Given the description of an element on the screen output the (x, y) to click on. 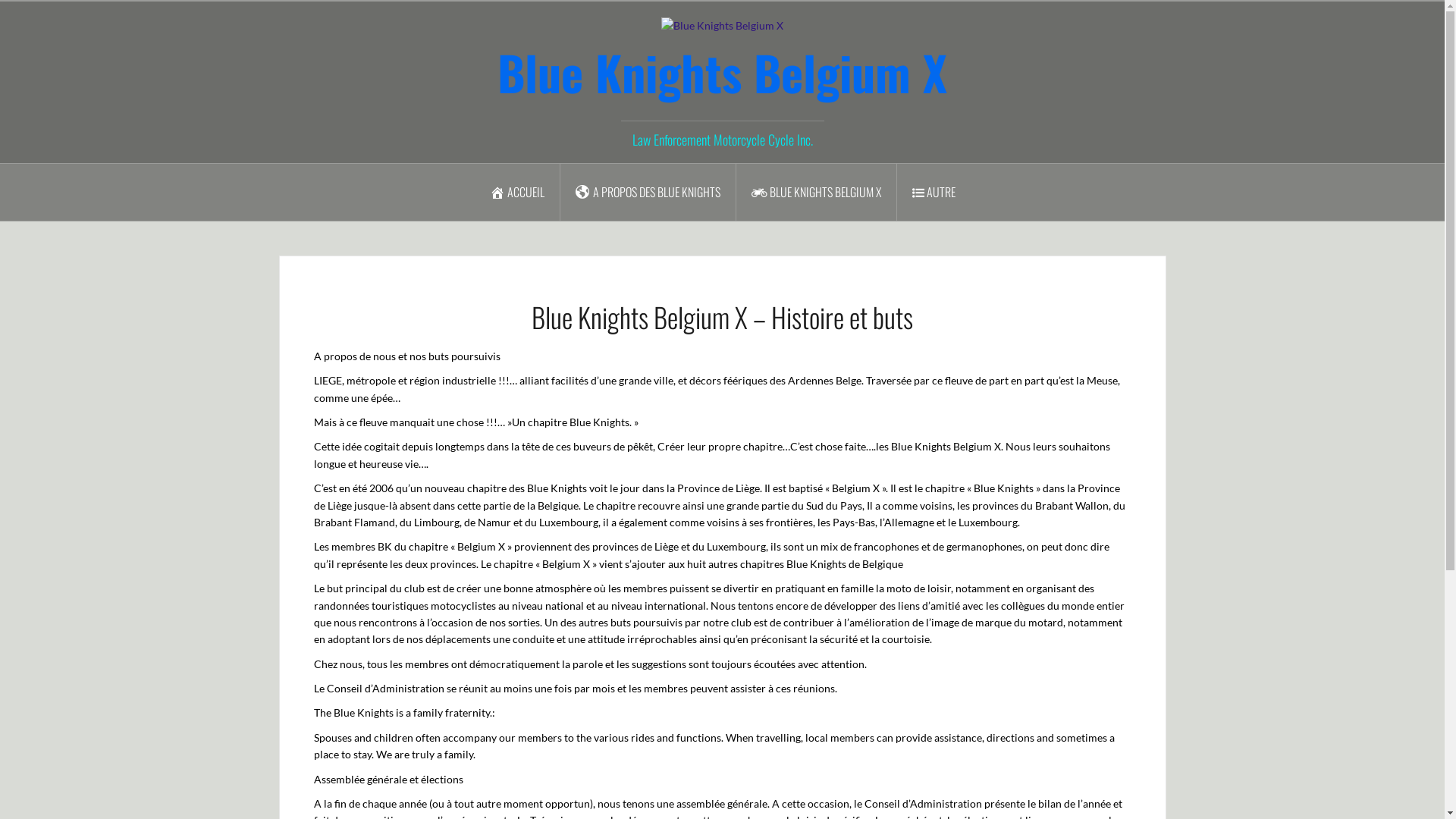
AUTRE Element type: text (932, 192)
ACCUEIL Element type: text (517, 192)
Blue Knights Belgium X Element type: hover (722, 24)
A PROPOS DES BLUE KNIGHTS Element type: text (647, 192)
Blue Knights Belgium X Element type: text (722, 71)
BLUE KNIGHTS BELGIUM X Element type: text (815, 192)
